Given the description of an element on the screen output the (x, y) to click on. 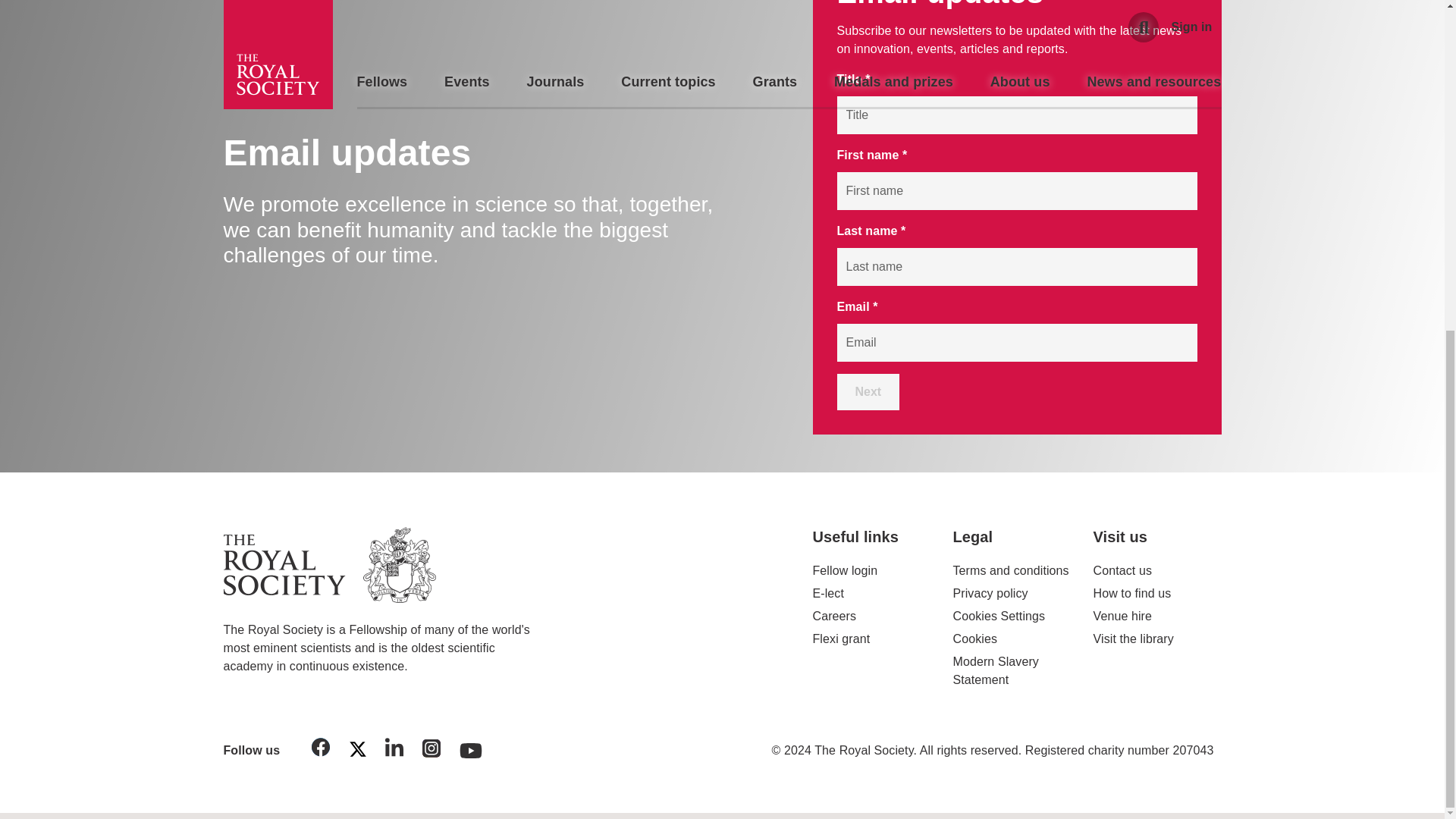
Twitter (357, 752)
YouTube (470, 746)
Facebook (320, 750)
LinkedIn (393, 750)
Instagram (431, 751)
